Given the description of an element on the screen output the (x, y) to click on. 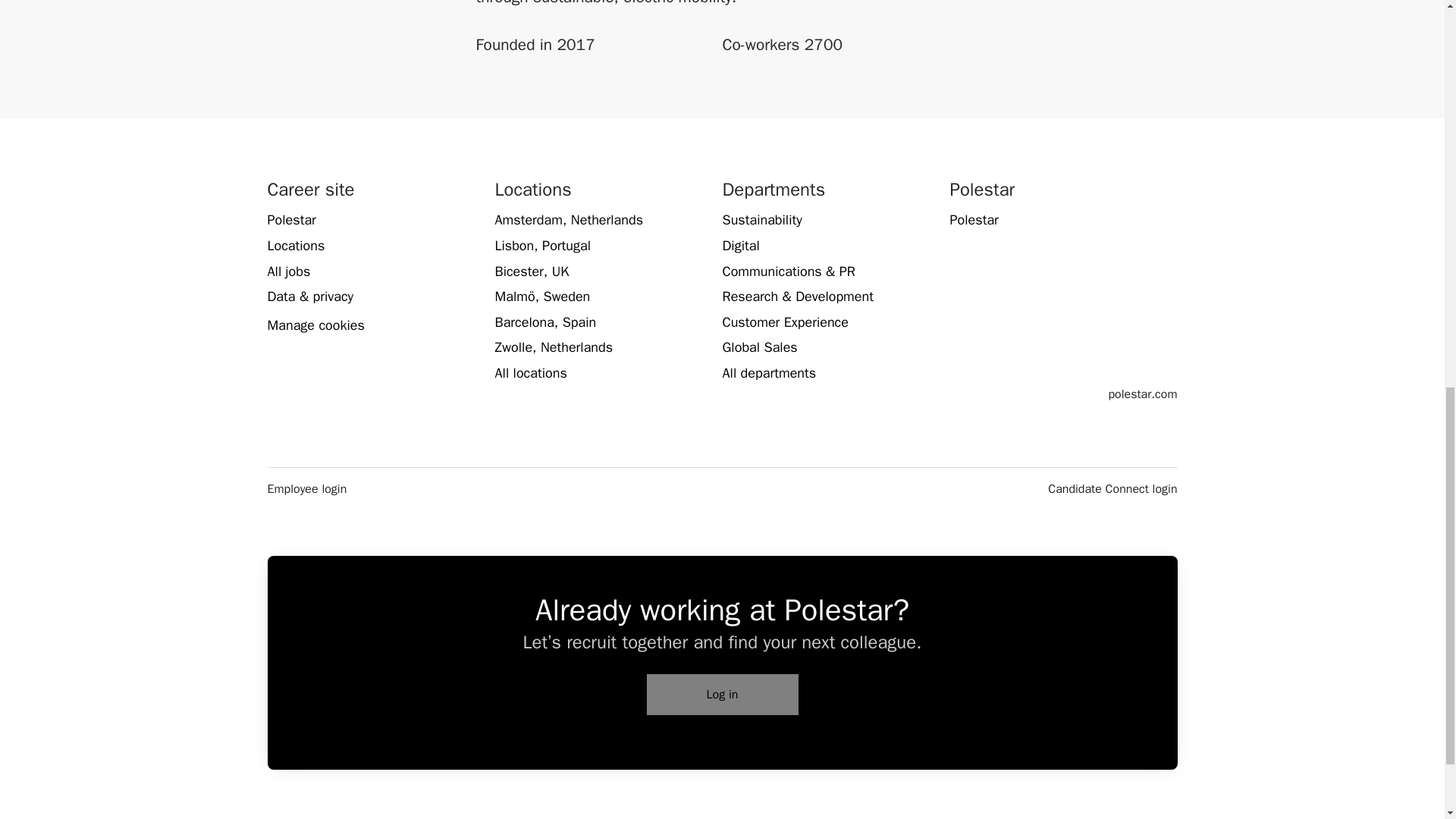
Digital (740, 245)
Manage cookies (315, 325)
Locations (295, 245)
Global Sales (759, 346)
Polestar (290, 219)
All departments (768, 372)
Barcelona, Spain (545, 322)
Amsterdam, Netherlands (569, 219)
Zwolle, Netherlands (553, 346)
All jobs (288, 271)
All locations (530, 372)
Bicester, UK (532, 271)
Lisbon, Portugal (543, 245)
Customer Experience (784, 322)
Sustainability (762, 219)
